Given the description of an element on the screen output the (x, y) to click on. 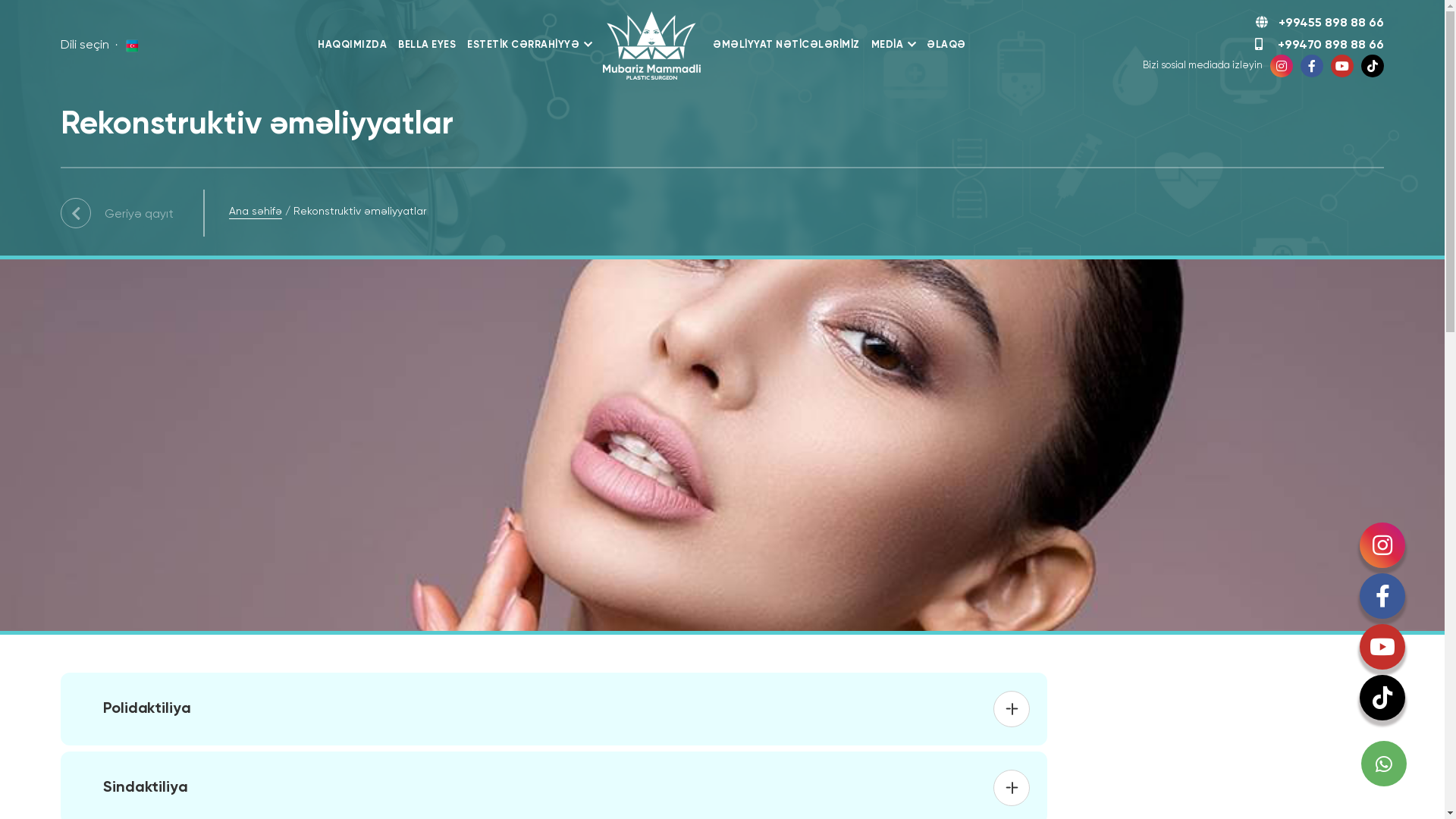
+99455 898 88 66 Element type: text (1262, 22)
HAQQIMIZDA Element type: text (351, 45)
MEDIA Element type: text (893, 45)
+99470 898 88 66 Element type: text (1319, 45)
BELLA EYES Element type: text (426, 45)
